Given the description of an element on the screen output the (x, y) to click on. 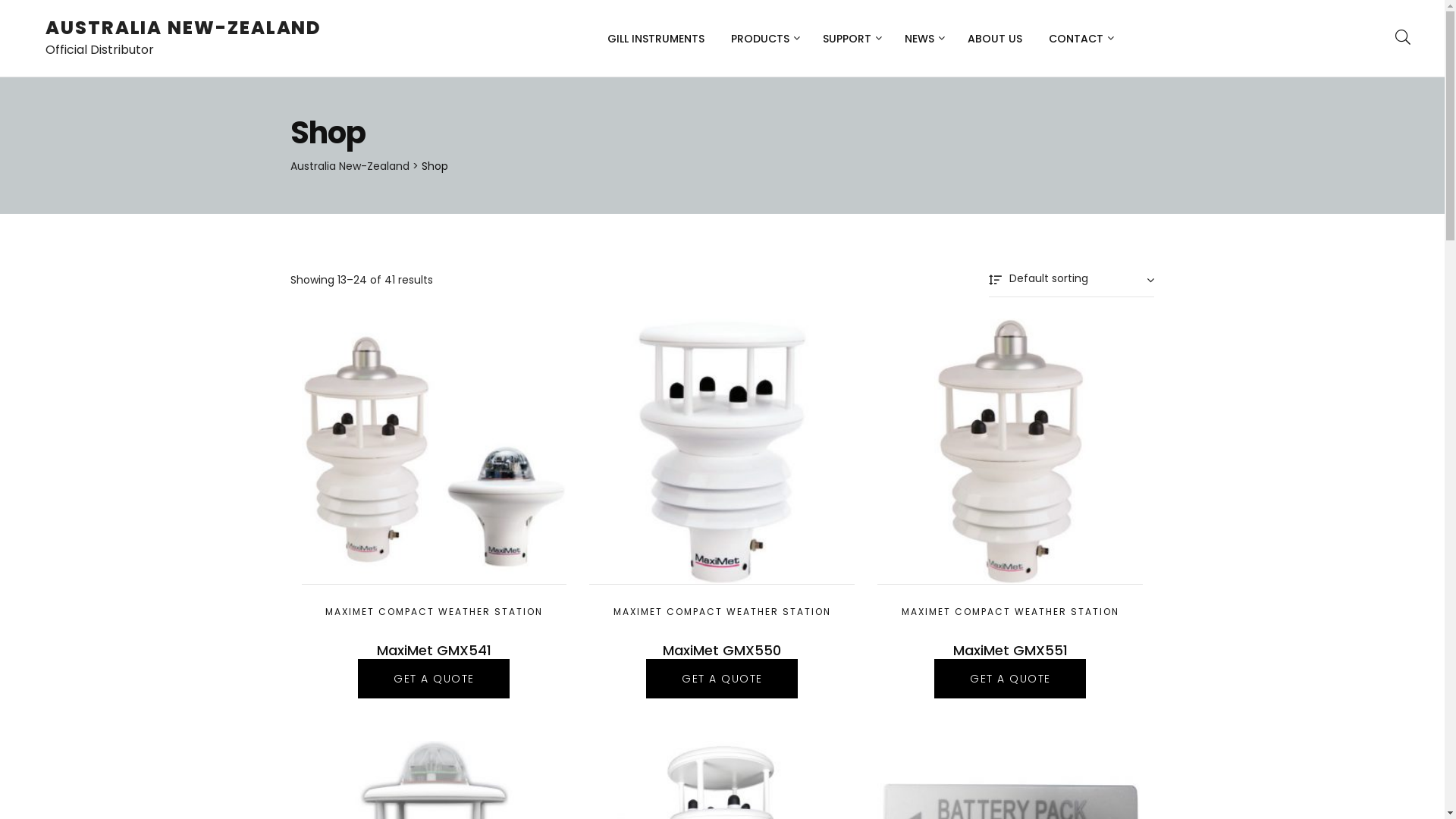
CONTACT Element type: text (1079, 38)
MAXIMET COMPACT WEATHER STATION Element type: text (1010, 611)
SUPPORT Element type: text (850, 38)
MaxiMet GMX541 Element type: text (433, 649)
MAXIMET COMPACT WEATHER STATION Element type: text (722, 611)
NEWS Element type: text (922, 38)
MaxiMet GMX551 Element type: text (1010, 649)
MaxiMet GMX550 Element type: text (721, 649)
GILL INSTRUMENTS Element type: text (655, 38)
MAXIMET COMPACT WEATHER STATION Element type: text (433, 611)
PRODUCTS Element type: text (763, 38)
AUSTRALIA NEW-ZEALAND Element type: text (183, 27)
GET A QUOTE Element type: text (433, 678)
GET A QUOTE Element type: text (721, 678)
Australia New-Zealand Element type: text (348, 165)
GET A QUOTE Element type: text (1009, 678)
ABOUT US Element type: text (994, 38)
